Given the description of an element on the screen output the (x, y) to click on. 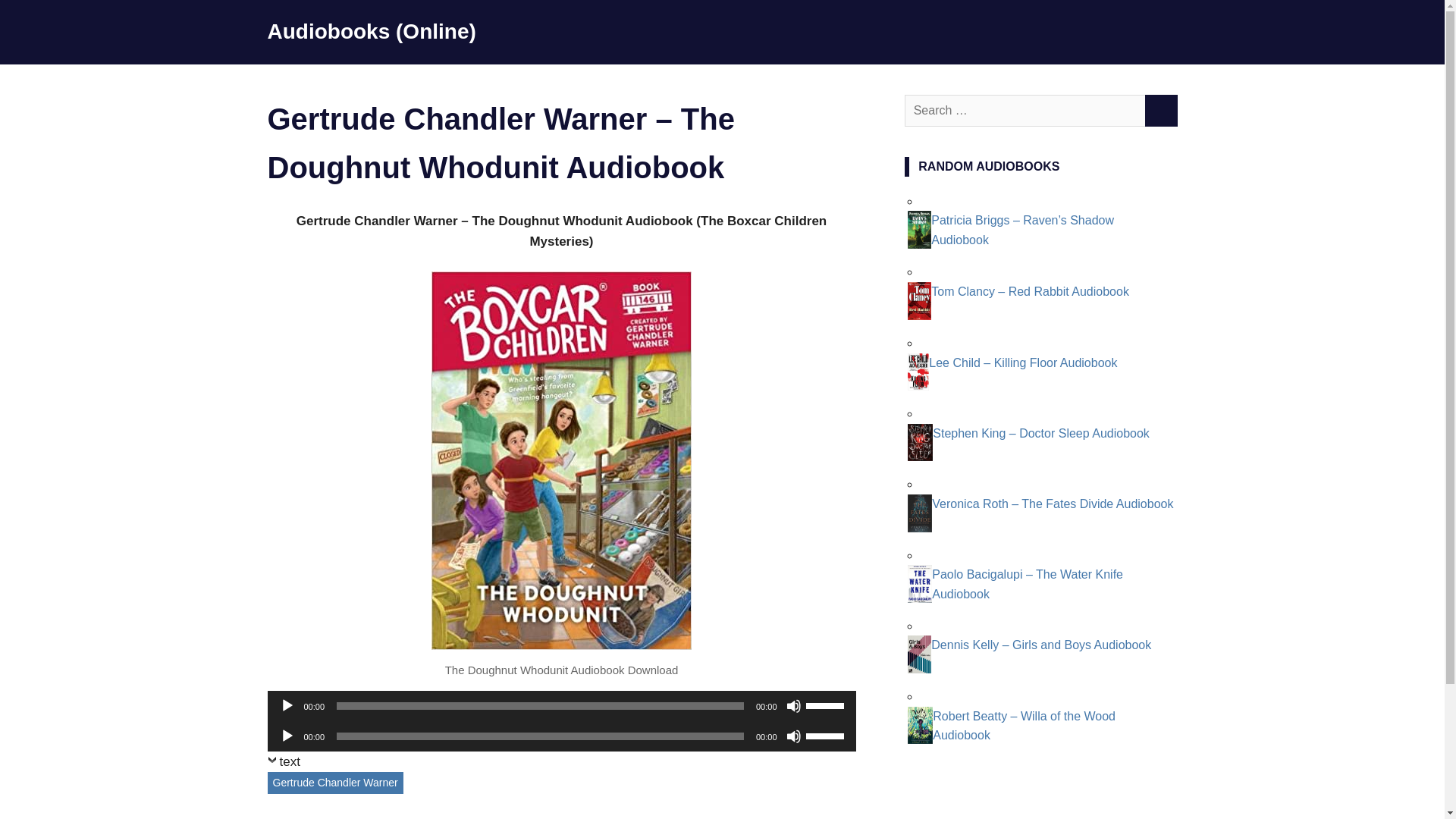
text (282, 765)
Mute (793, 705)
Mute (793, 735)
Play (286, 705)
SEARCH (1160, 110)
Gertrude Chandler Warner (334, 782)
Search for: (1024, 110)
Play (286, 735)
